Given the description of an element on the screen output the (x, y) to click on. 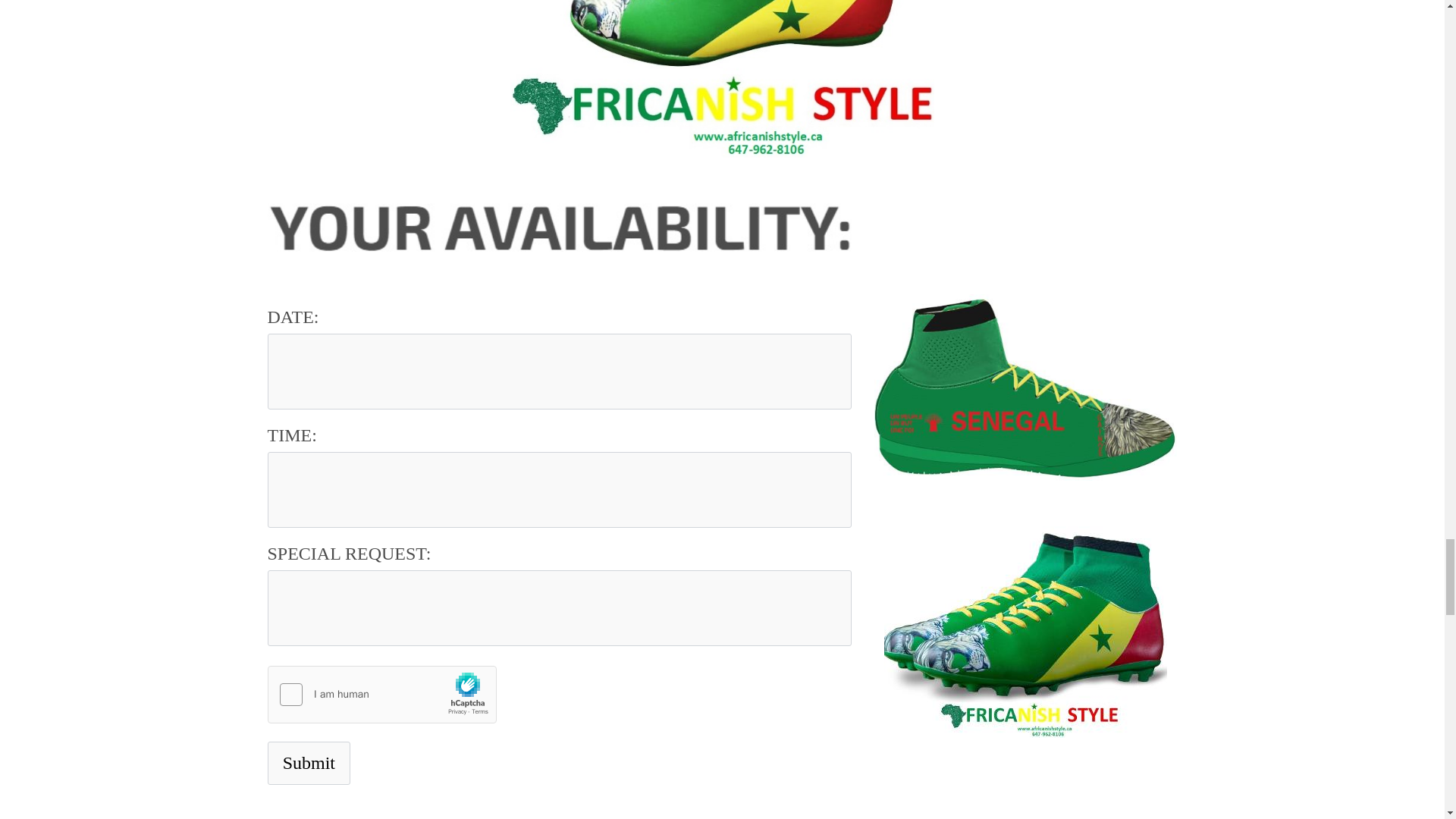
Submit (308, 763)
